Given the description of an element on the screen output the (x, y) to click on. 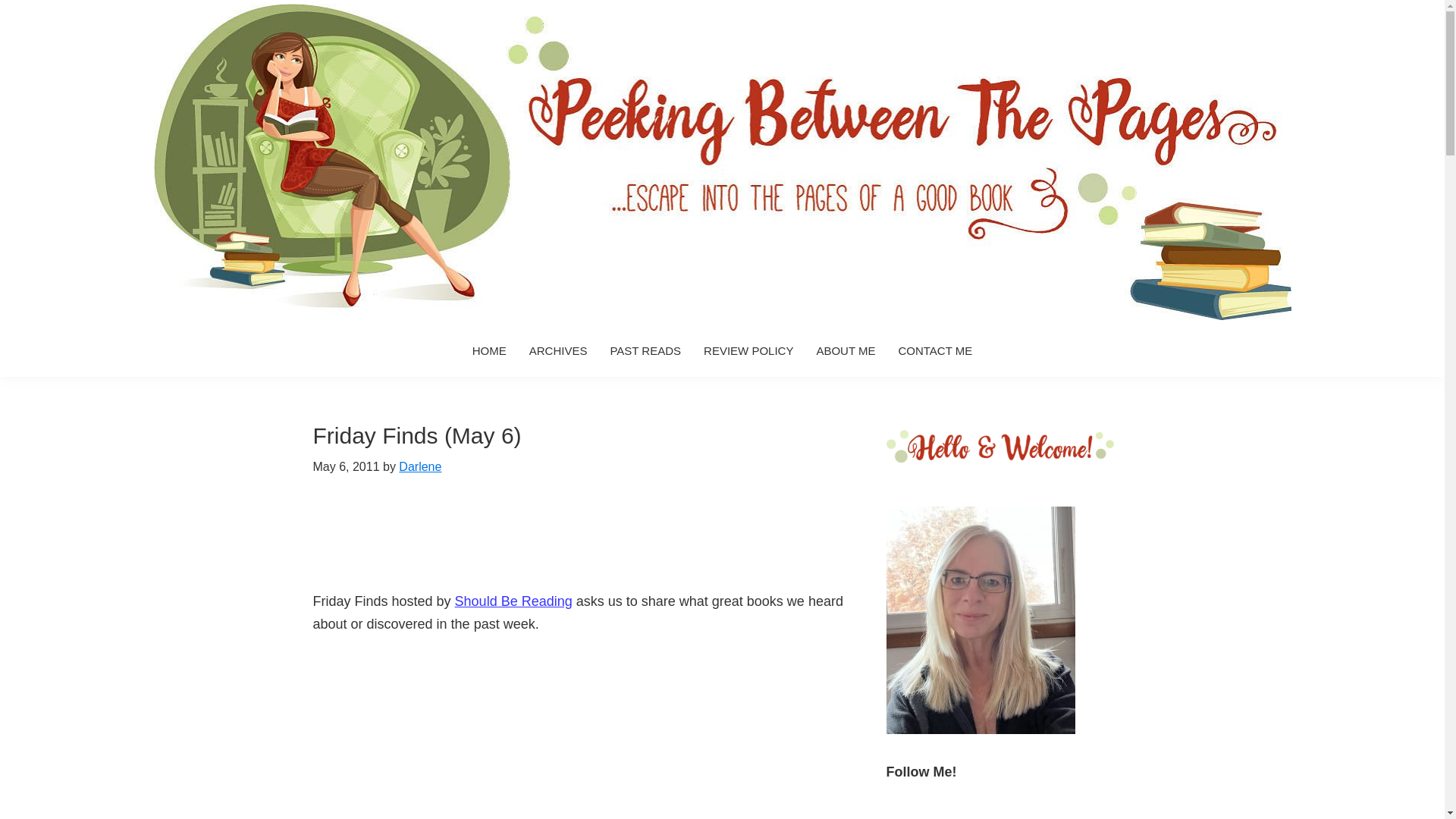
ABOUT ME (845, 350)
Should Be Reading (513, 601)
HOME (489, 350)
Darlene (419, 466)
ARCHIVES (558, 350)
PAST READS (645, 350)
CONTACT ME (935, 350)
REVIEW POLICY (749, 350)
